Given the description of an element on the screen output the (x, y) to click on. 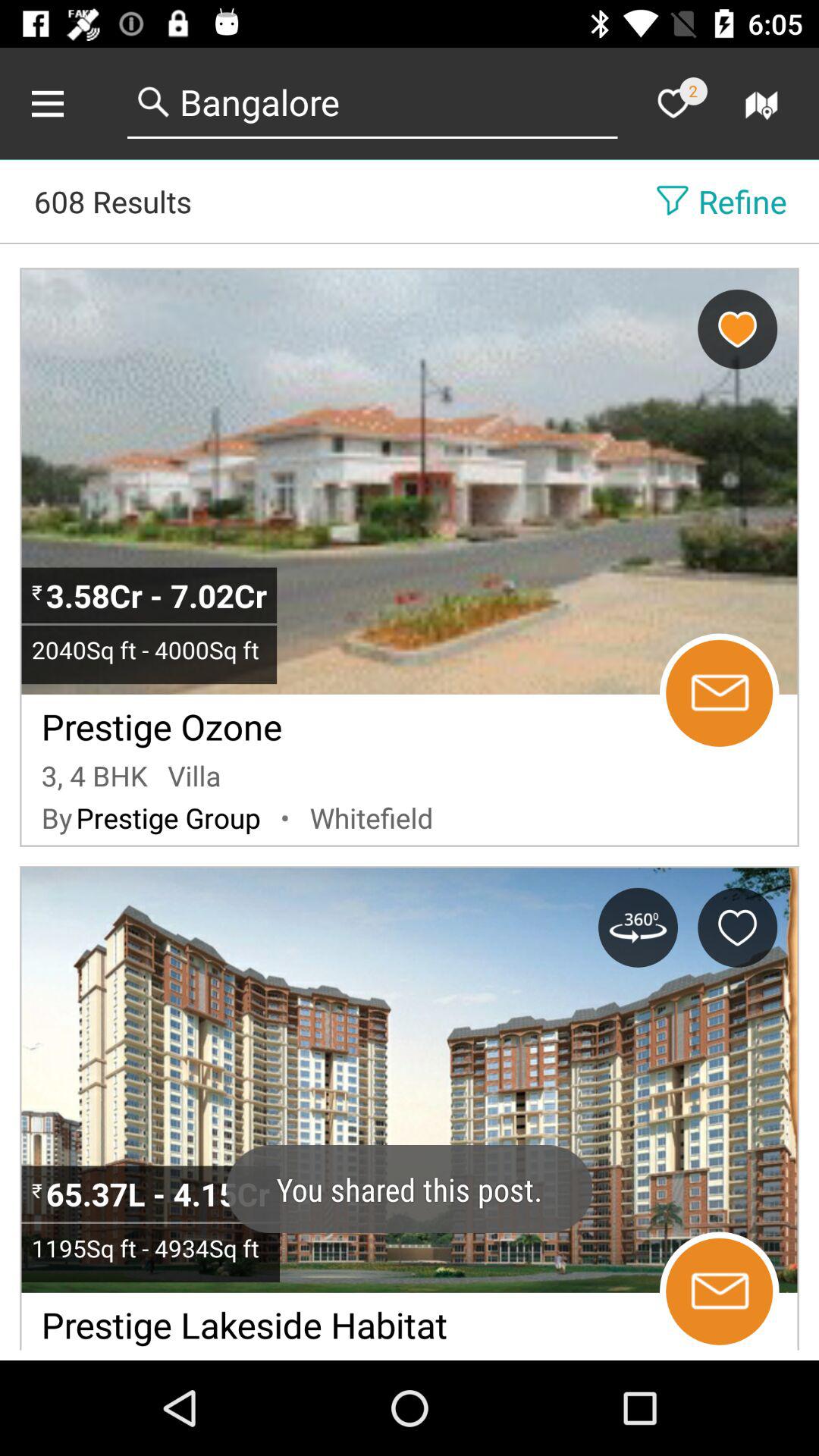
turn on the 65 37l 4 (160, 1193)
